Given the description of an element on the screen output the (x, y) to click on. 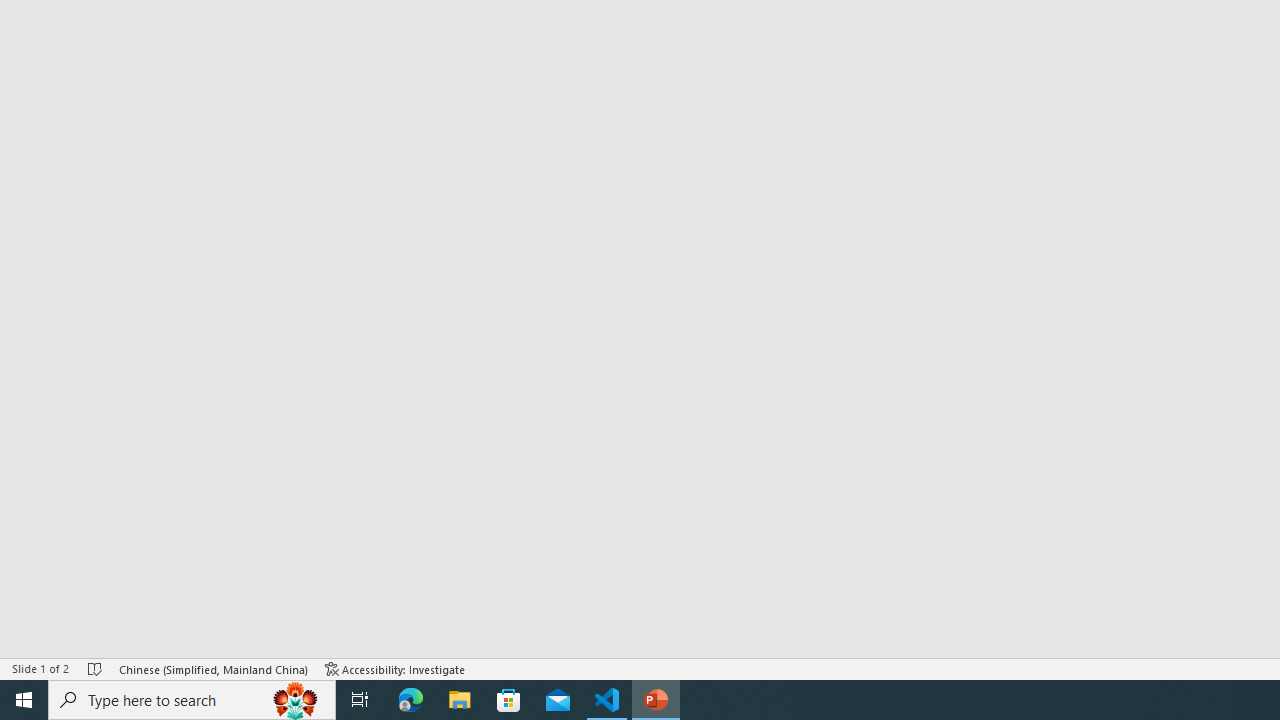
Spell Check No Errors (95, 668)
Accessibility Checker Accessibility: Investigate (395, 668)
